Given the description of an element on the screen output the (x, y) to click on. 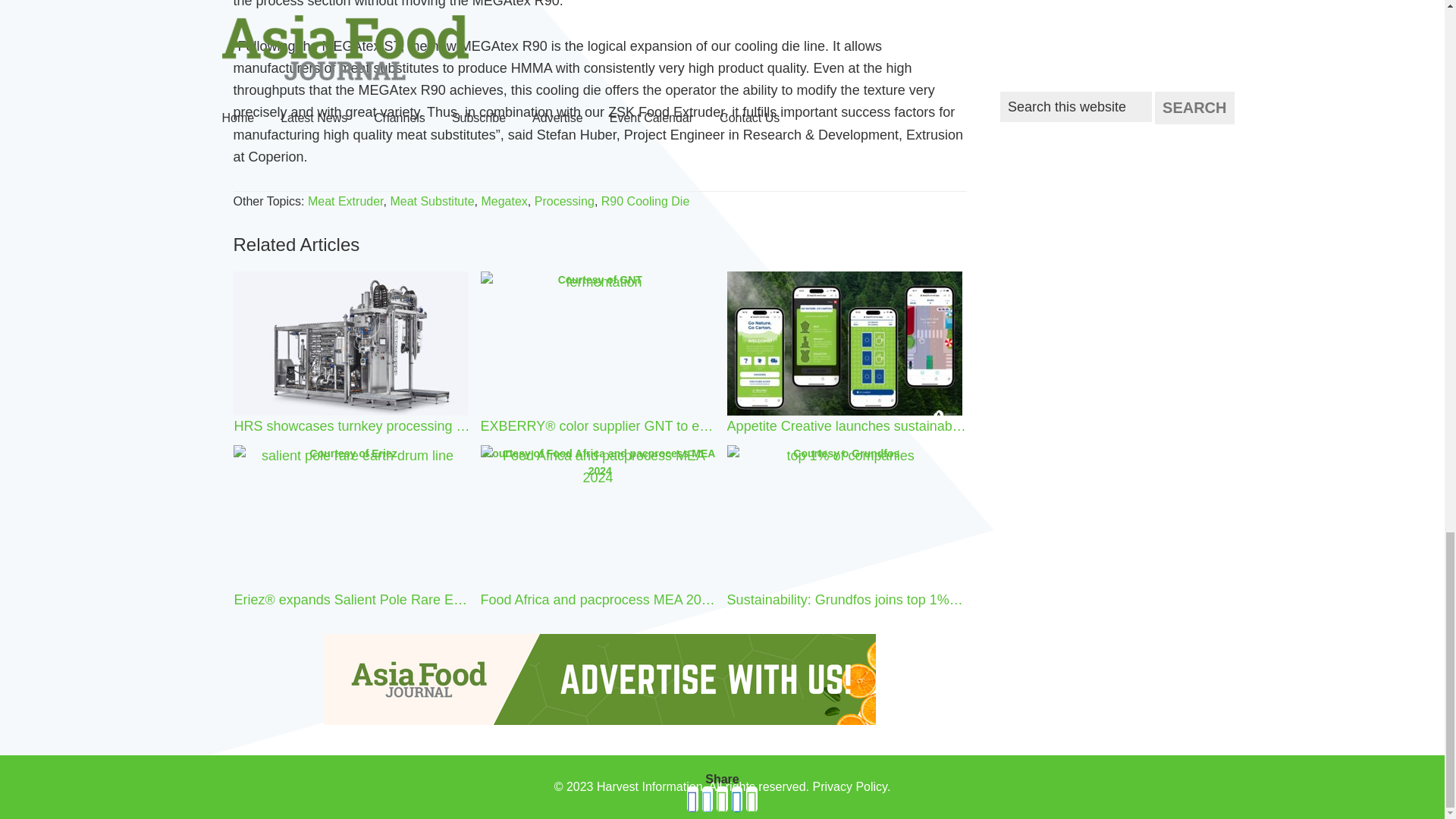
Processing (564, 201)
Meat Extruder (345, 201)
Meat Substitute (432, 201)
Megatex (503, 201)
R90 Cooling Die (645, 201)
